Given the description of an element on the screen output the (x, y) to click on. 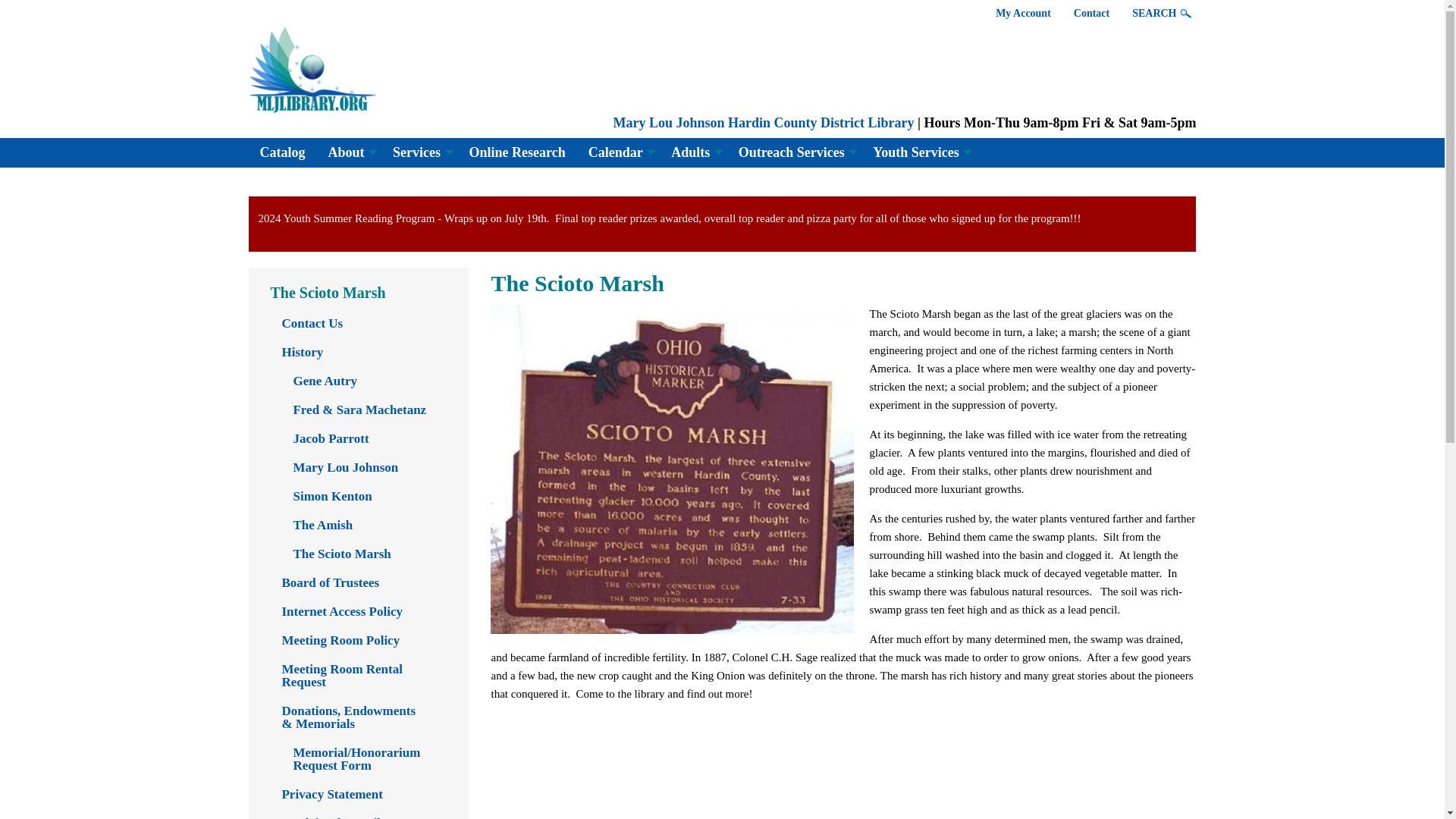
Home (763, 122)
